Given the description of an element on the screen output the (x, y) to click on. 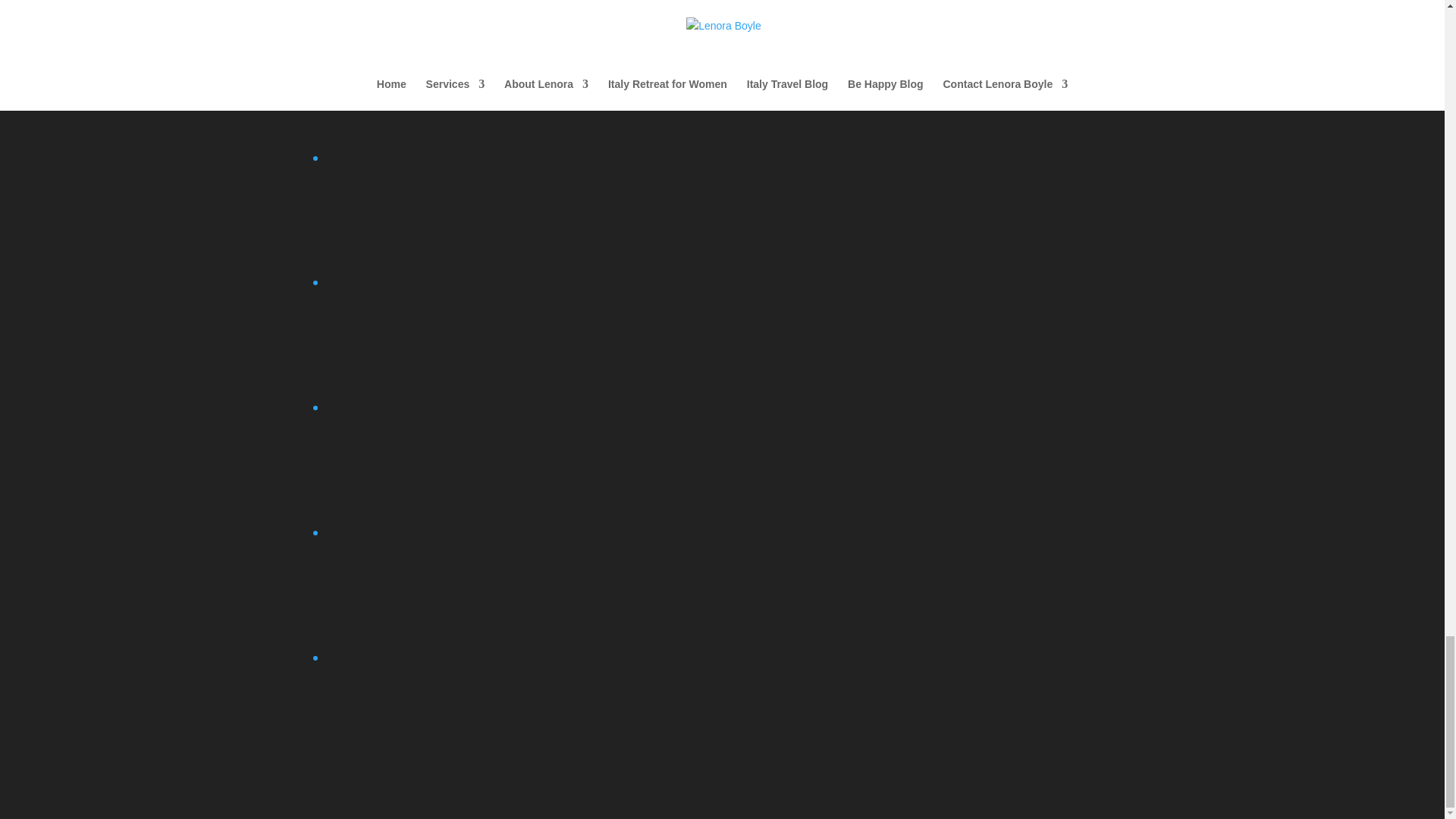
Flickr (436, 6)
YouTube (436, 705)
LinkedIn (436, 259)
LinkedIn (436, 205)
Pinterest (436, 330)
Instagram (436, 81)
Instagram (436, 133)
Twitter (436, 581)
RSS (436, 508)
Pinterest (436, 383)
